Given the description of an element on the screen output the (x, y) to click on. 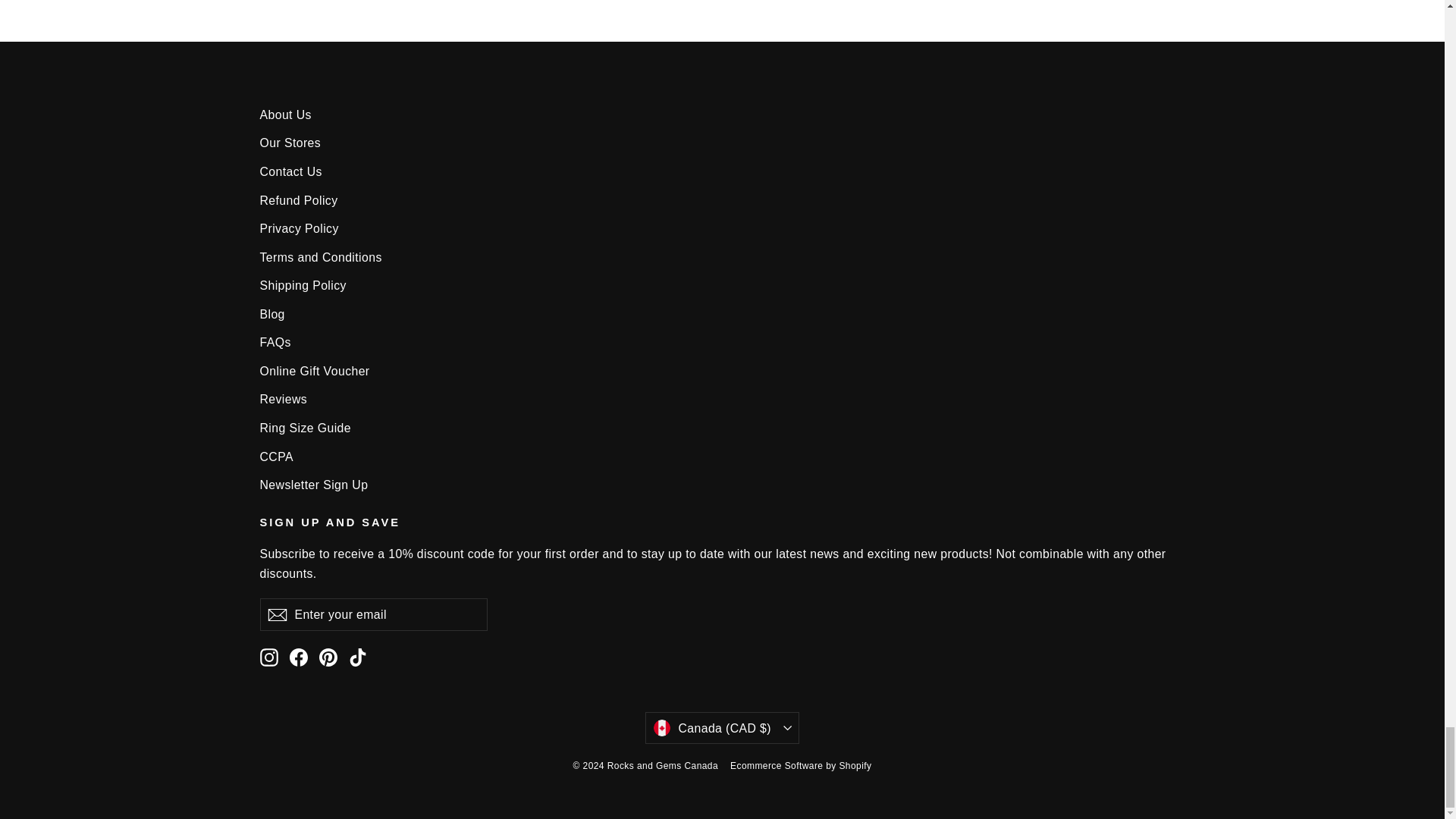
Rocks and Gems Canada on Facebook (298, 656)
instagram (268, 657)
Rocks and Gems Canada on Pinterest (327, 656)
Rocks and Gems Canada on TikTok (357, 656)
icon-email (276, 615)
